Given the description of an element on the screen output the (x, y) to click on. 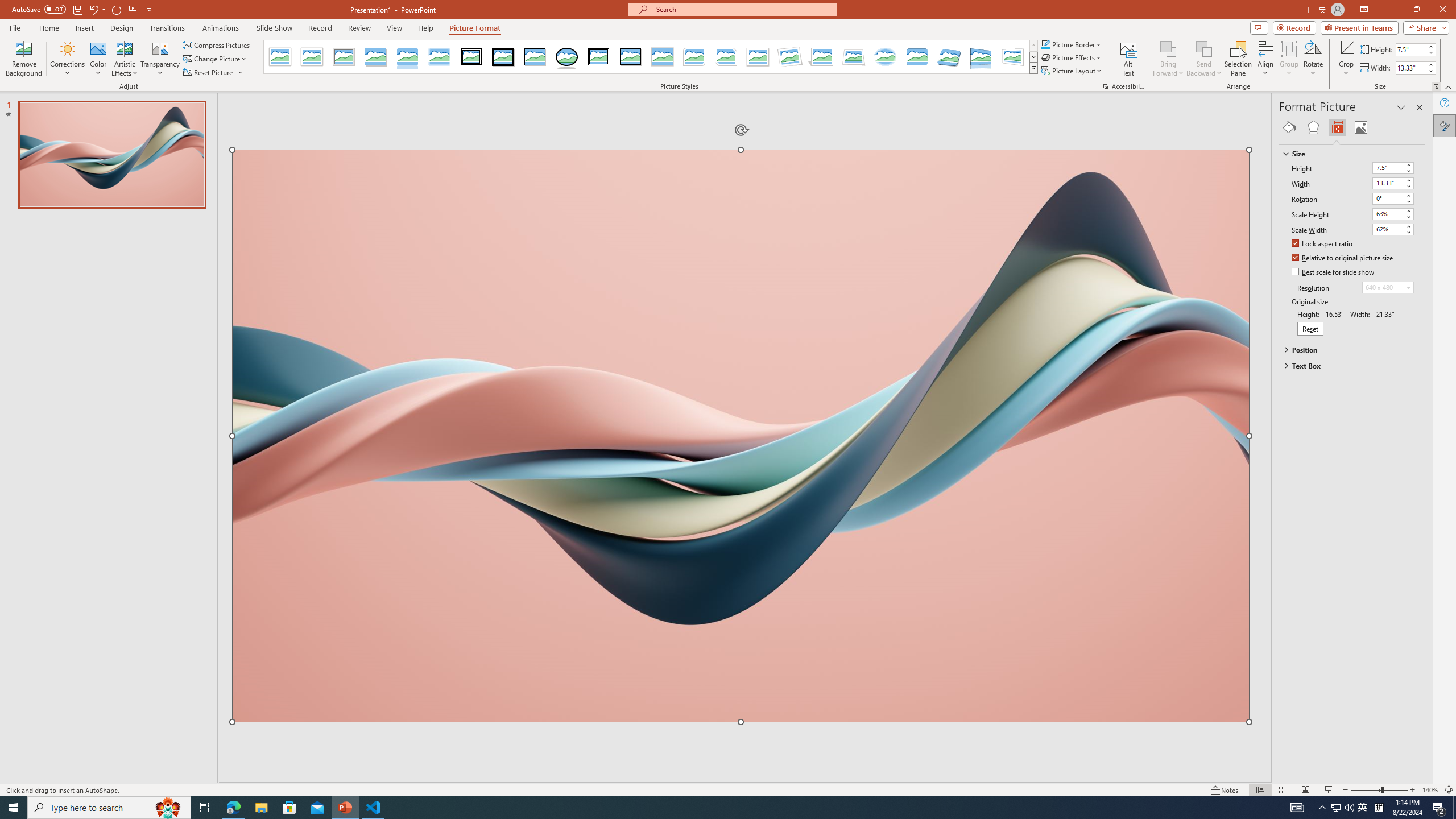
Size & Properties (1336, 126)
Transparency (160, 58)
Perspective Shadow, White (821, 56)
Scale Width (1388, 229)
Zoom Out (1366, 790)
Record (320, 28)
Undo (96, 9)
Bring Forward (1168, 58)
Relaxed Perspective, White (853, 56)
Rotate (1312, 58)
Animations (220, 28)
Shape Width (1410, 67)
Remove Background (23, 58)
Bevel Rectangle (917, 56)
